Given the description of an element on the screen output the (x, y) to click on. 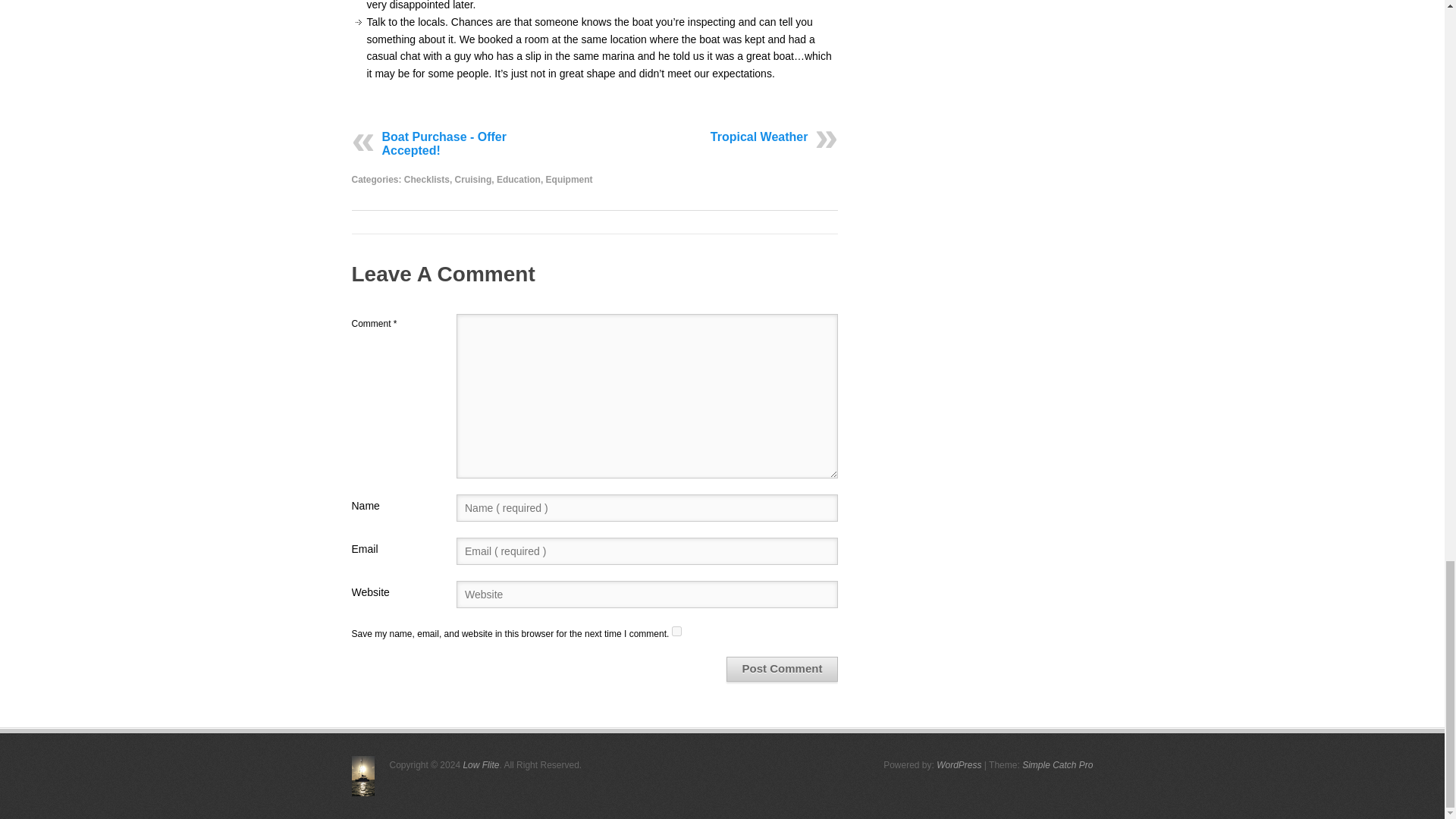
Equipment (569, 178)
Post Comment (782, 668)
Cruising (473, 178)
Tropical Weather (759, 135)
Post Comment (782, 668)
yes (676, 631)
Boat Purchase - Offer Accepted! (443, 142)
Checklists (426, 178)
Education (518, 178)
